Given the description of an element on the screen output the (x, y) to click on. 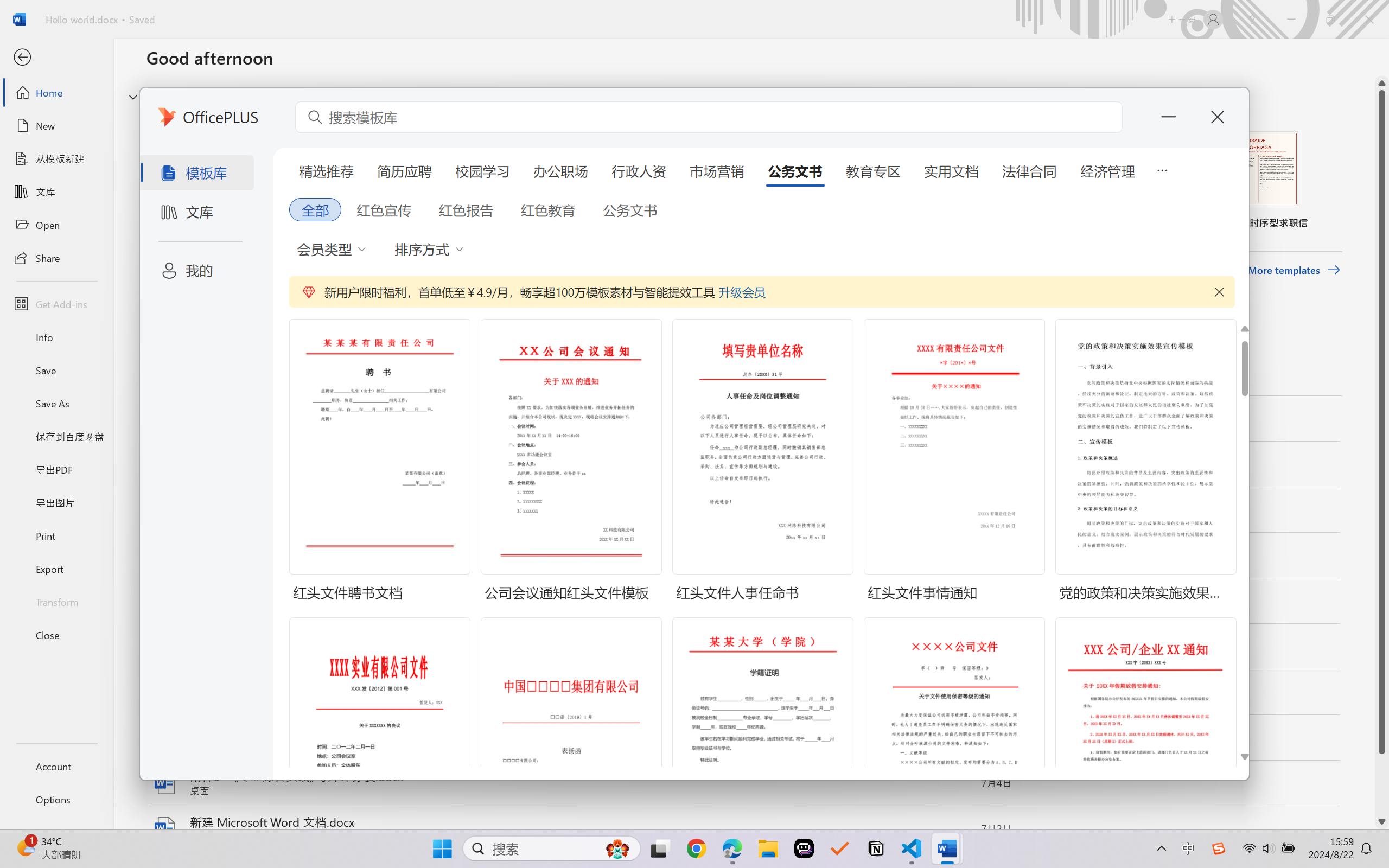
Line up (1382, 83)
Export (56, 568)
